Given the description of an element on the screen output the (x, y) to click on. 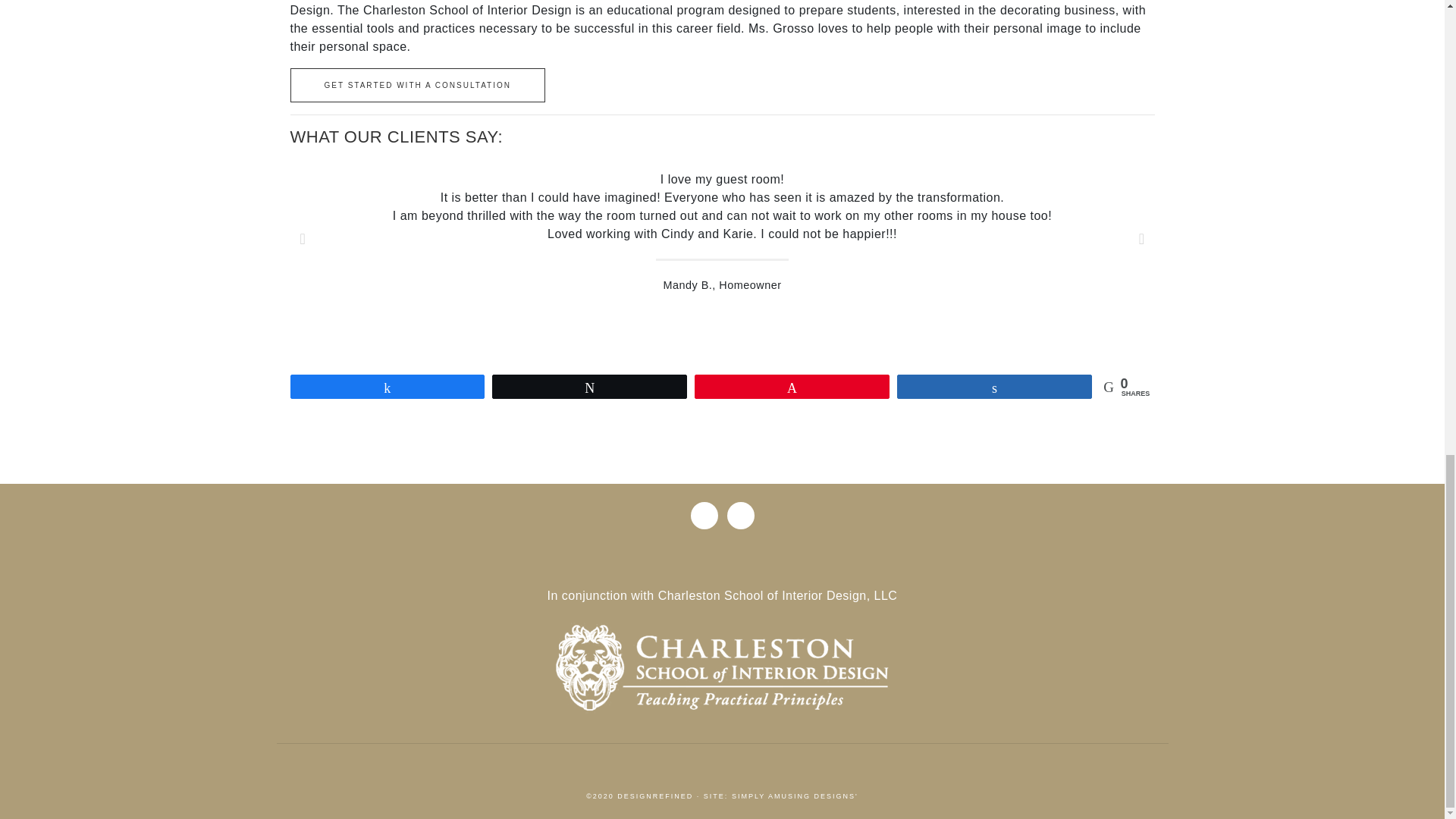
SIMPLY AMUSING DESIGNS (794, 796)
affordable websites by SA Designs (794, 796)
DESIGNREFINED (655, 796)
GET STARTED WITH A CONSULTATION (416, 84)
